Given the description of an element on the screen output the (x, y) to click on. 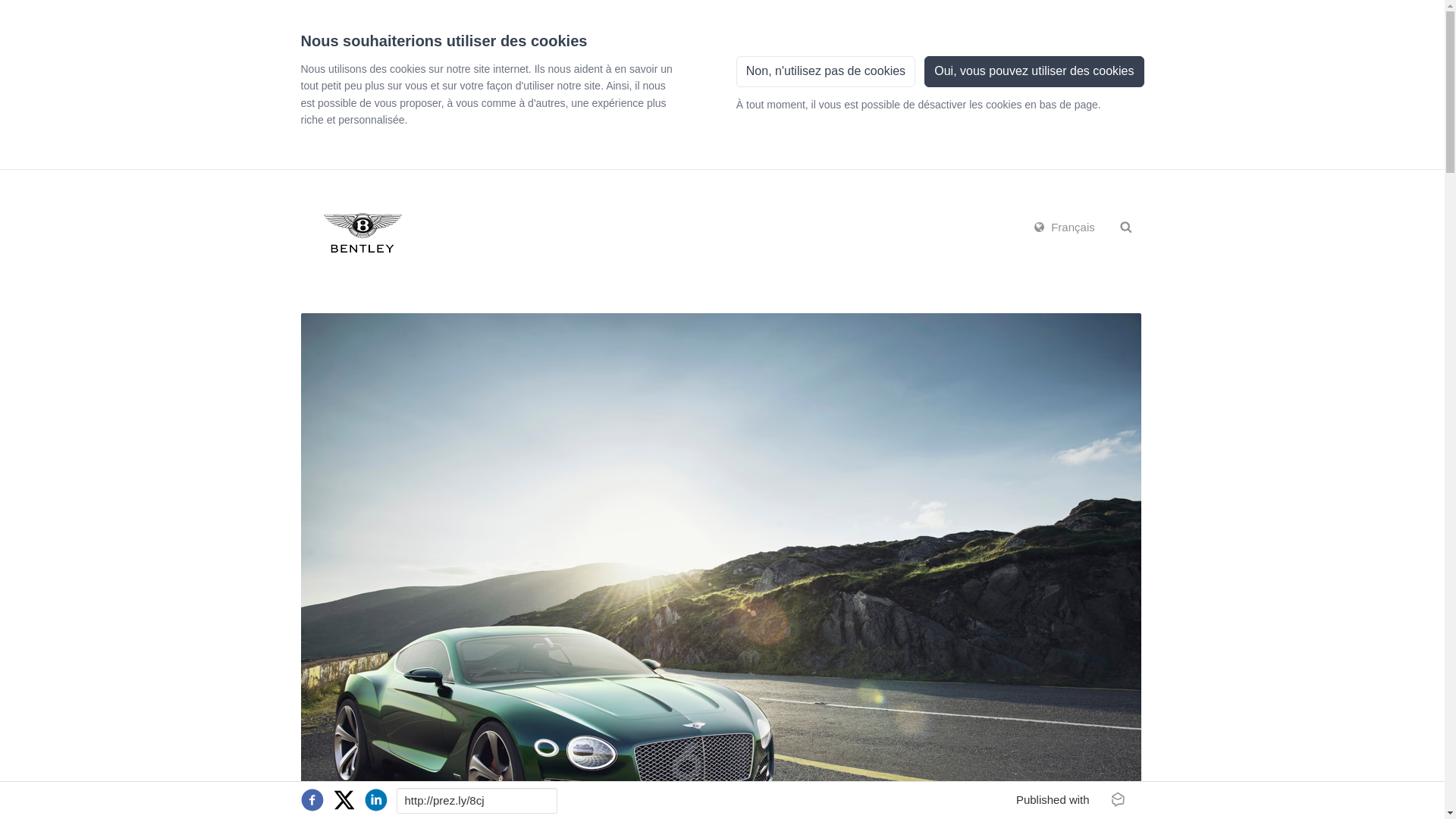
partager sur LinkedIn Element type: hover (375, 799)
Rechercher dans la salle de presse Element type: hover (1125, 225)
Bentley Brussels Element type: hover (350, 226)
Publishing content/newsrooms with Prezly Element type: hover (1116, 799)
partager sur Facebook Element type: hover (311, 799)
tweeter Element type: hover (343, 799)
http://prez.ly/8cj Element type: text (475, 799)
Skip to Content Element type: text (300, 171)
Short URL Element type: hover (475, 799)
Non, n'utilisez pas de cookies Element type: text (825, 71)
Oui, vous pouvez utiliser des cookies Element type: text (1033, 71)
